Given the description of an element on the screen output the (x, y) to click on. 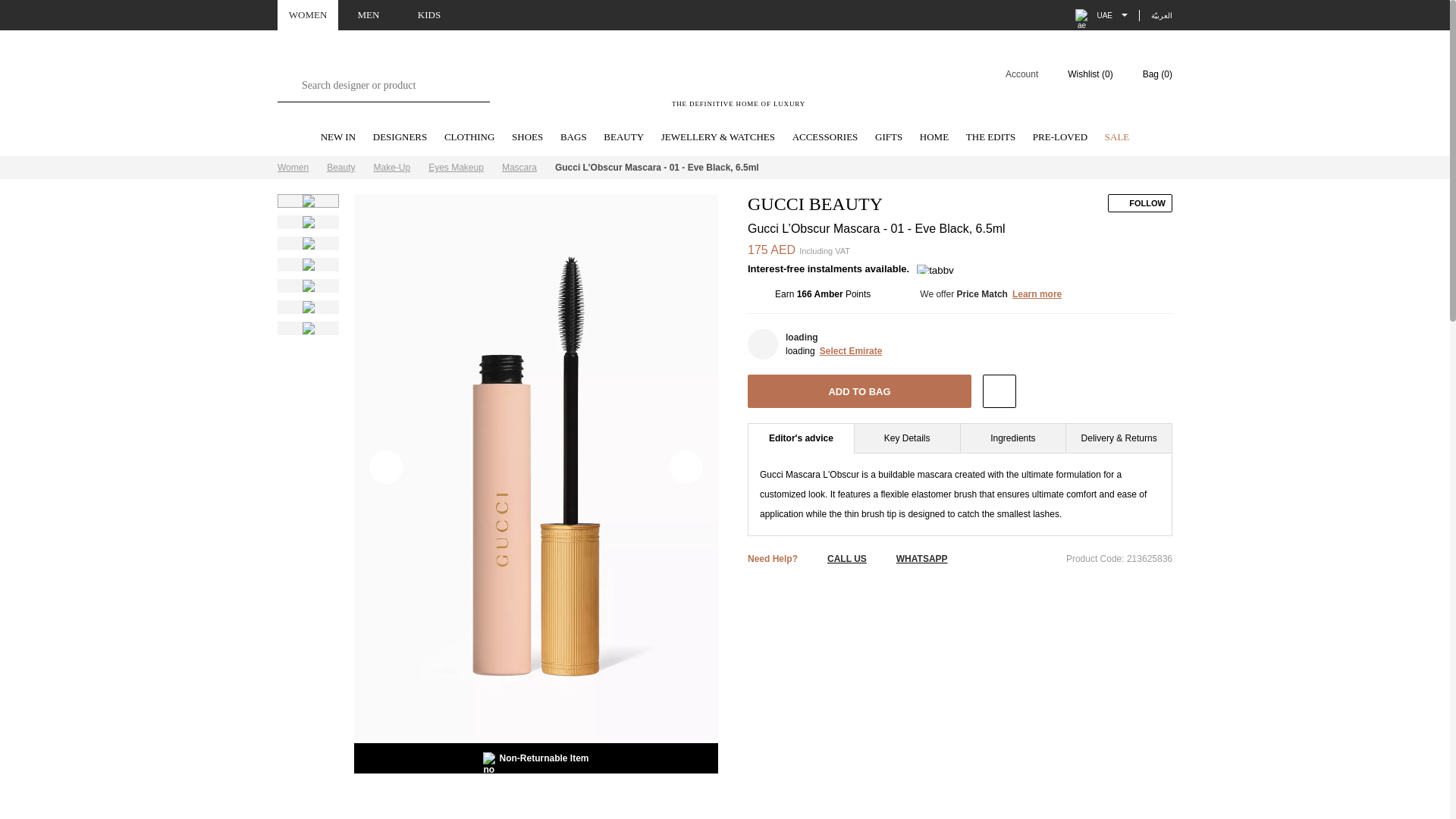
DESIGNERS (400, 137)
SHOES (527, 137)
PRE-LOVED (1059, 137)
THE EDITS (990, 137)
HOME (934, 137)
BAGS (573, 137)
CLOTHING (469, 137)
BEAUTY (623, 137)
GIFTS (888, 137)
MEN (367, 15)
